Given the description of an element on the screen output the (x, y) to click on. 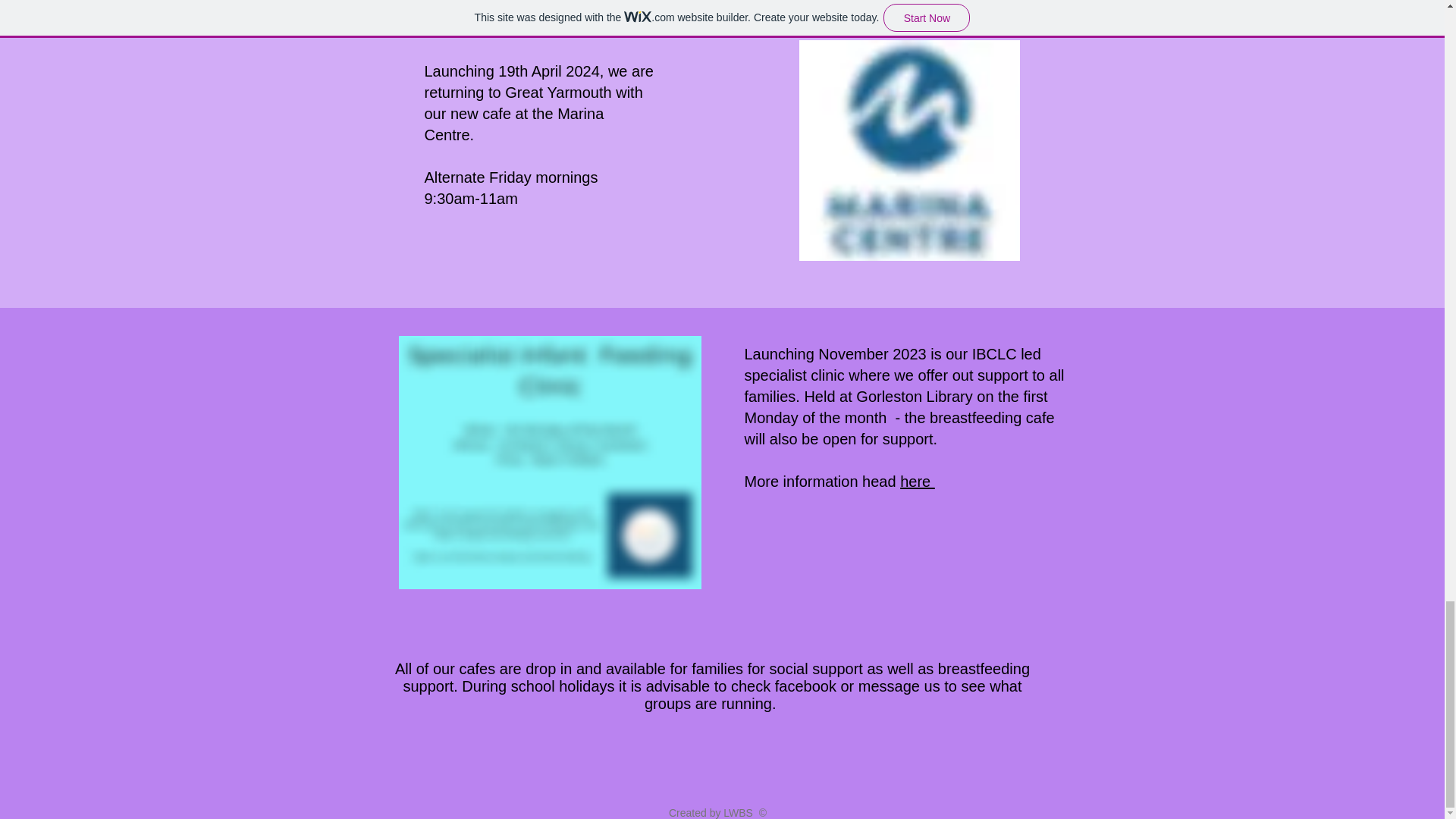
specialist clinic.png (549, 461)
